Given the description of an element on the screen output the (x, y) to click on. 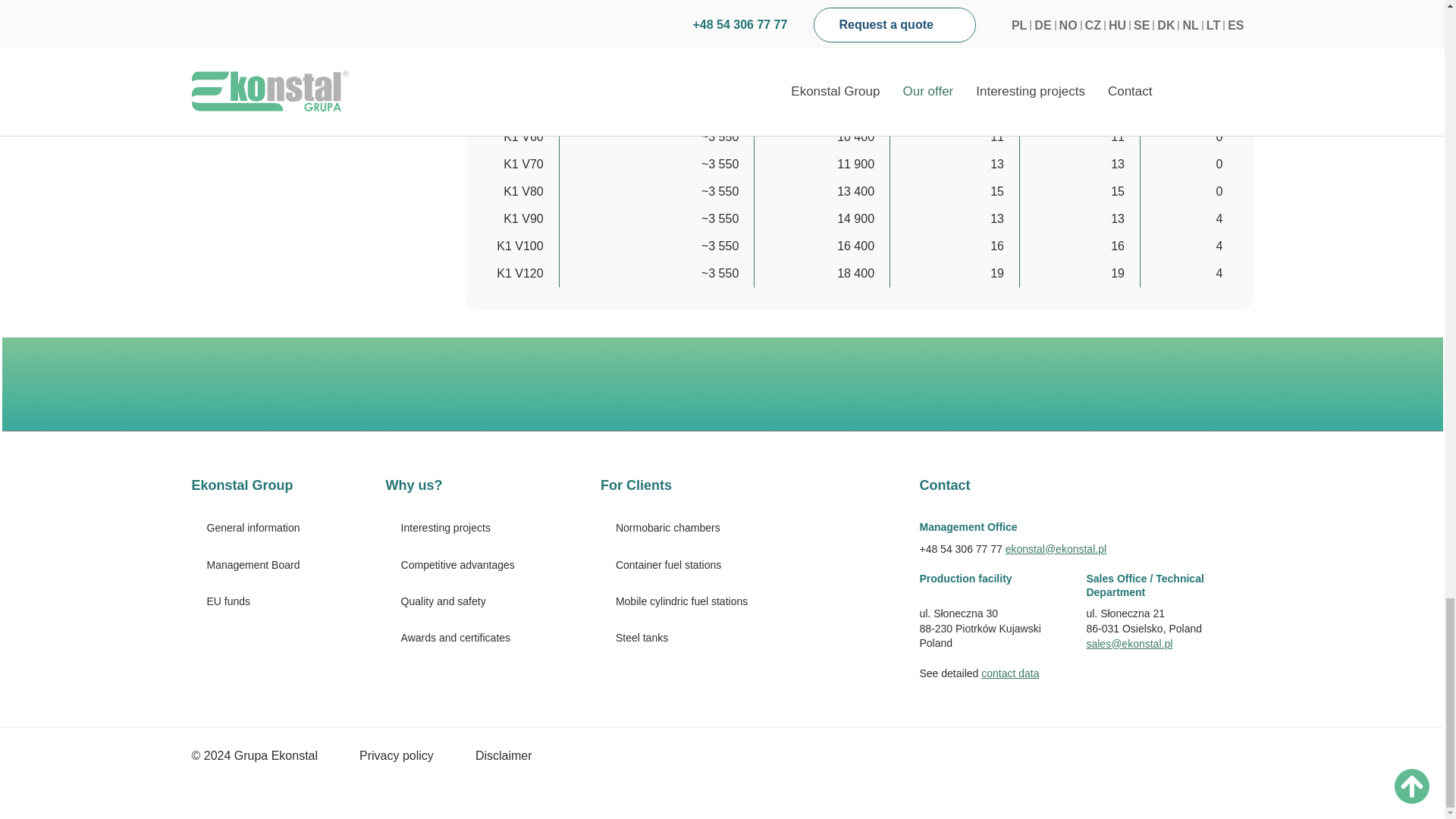
youtube (1153, 383)
facebook (1192, 383)
linkedin (1232, 383)
